Given the description of an element on the screen output the (x, y) to click on. 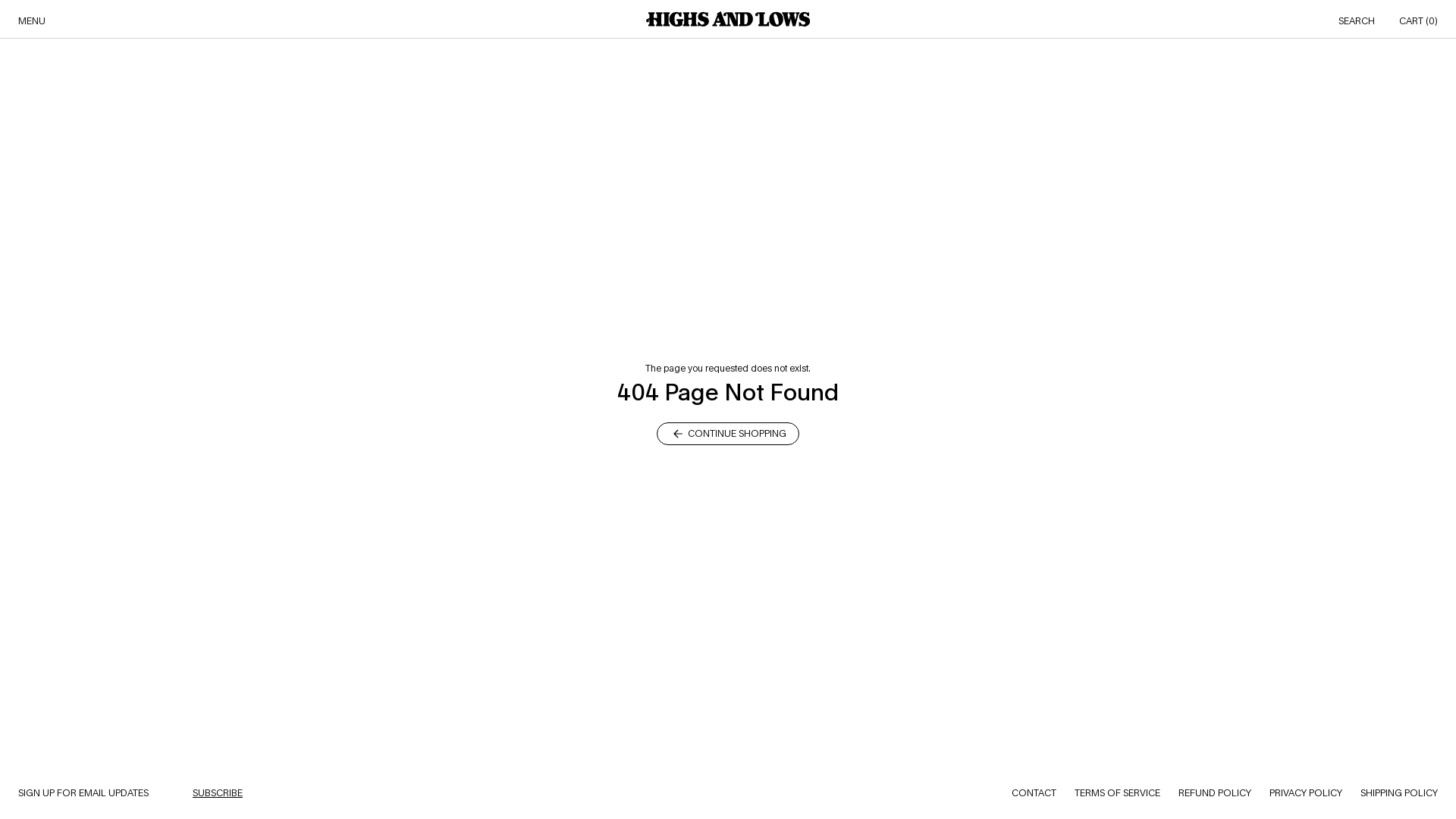
MENU Element type: text (31, 20)
SUBSCRIBE Element type: text (217, 792)
CONTACT Element type: text (1033, 792)
CART (0) Element type: text (1418, 20)
SHIPPING POLICY Element type: text (1398, 792)
PRIVACY POLICY Element type: text (1305, 792)
REFUND POLICY Element type: text (1214, 792)
TERMS OF SERVICE Element type: text (1117, 792)
SEARCH Element type: text (1356, 20)
CONTINUE SHOPPING Element type: text (728, 432)
